Given the description of an element on the screen output the (x, y) to click on. 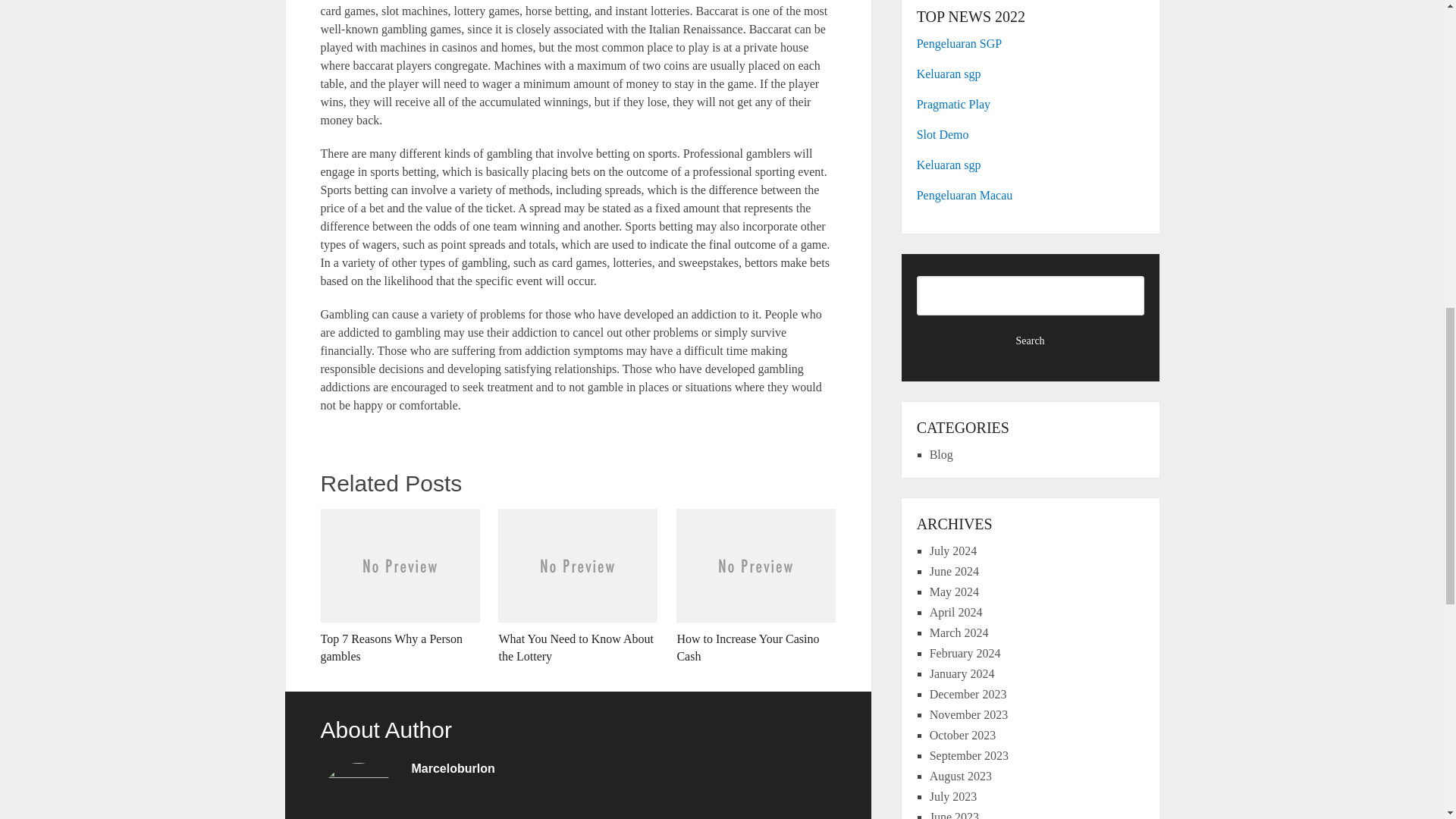
What You Need to Know About the Lottery (577, 586)
Top 7 Reasons Why a Person gambles (399, 586)
How to Increase Your Casino Cash (756, 586)
Search (1030, 340)
Top 7 Reasons Why a Person gambles (399, 586)
How to Increase Your Casino Cash (756, 586)
What You Need to Know About the Lottery (577, 586)
